Given the description of an element on the screen output the (x, y) to click on. 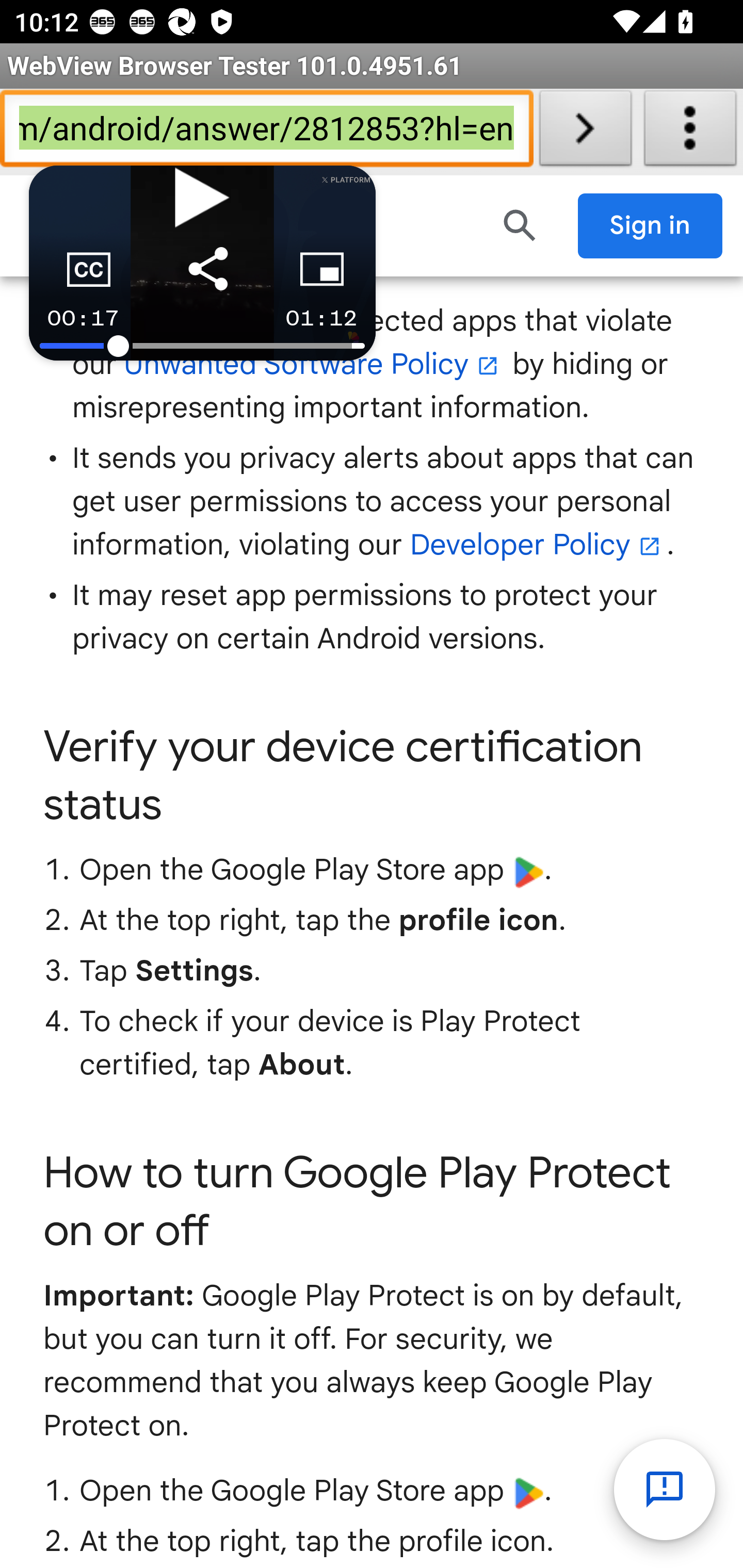
Load URL (585, 132)
About WebView (690, 132)
Search Help Center (519, 226)
Sign in (650, 226)
Developer Policy (537, 544)
